Given the description of an element on the screen output the (x, y) to click on. 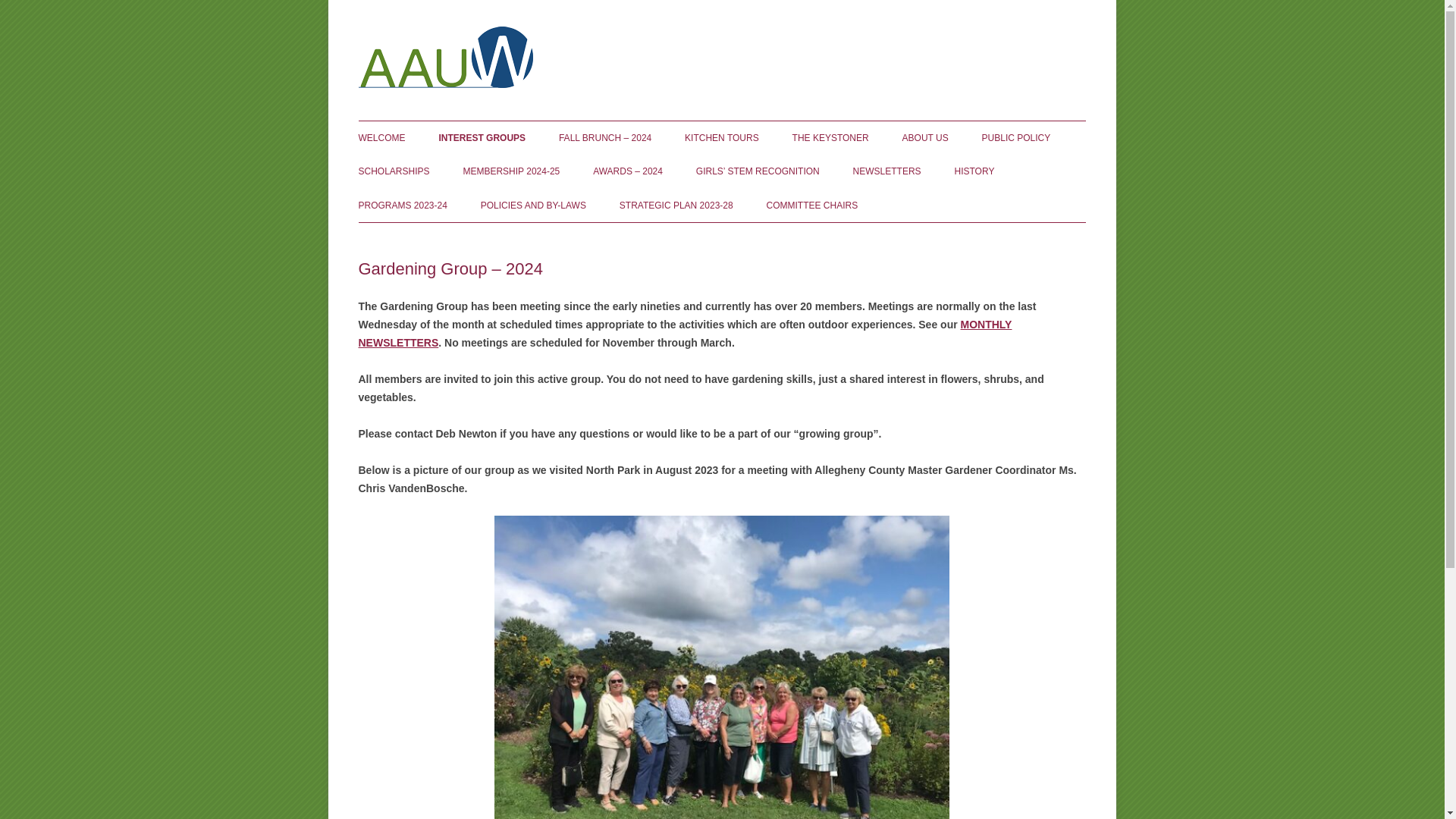
PUBLIC POLICY (1016, 137)
SCHOLARSHIPS (393, 171)
ABOUT US (925, 137)
THE KEYSTONER (830, 137)
MEMBERSHIP 2024-25 (511, 171)
PROGRAMS 2023-24 (402, 205)
NEWSLETTERS (887, 171)
WELCOME (381, 137)
